Given the description of an element on the screen output the (x, y) to click on. 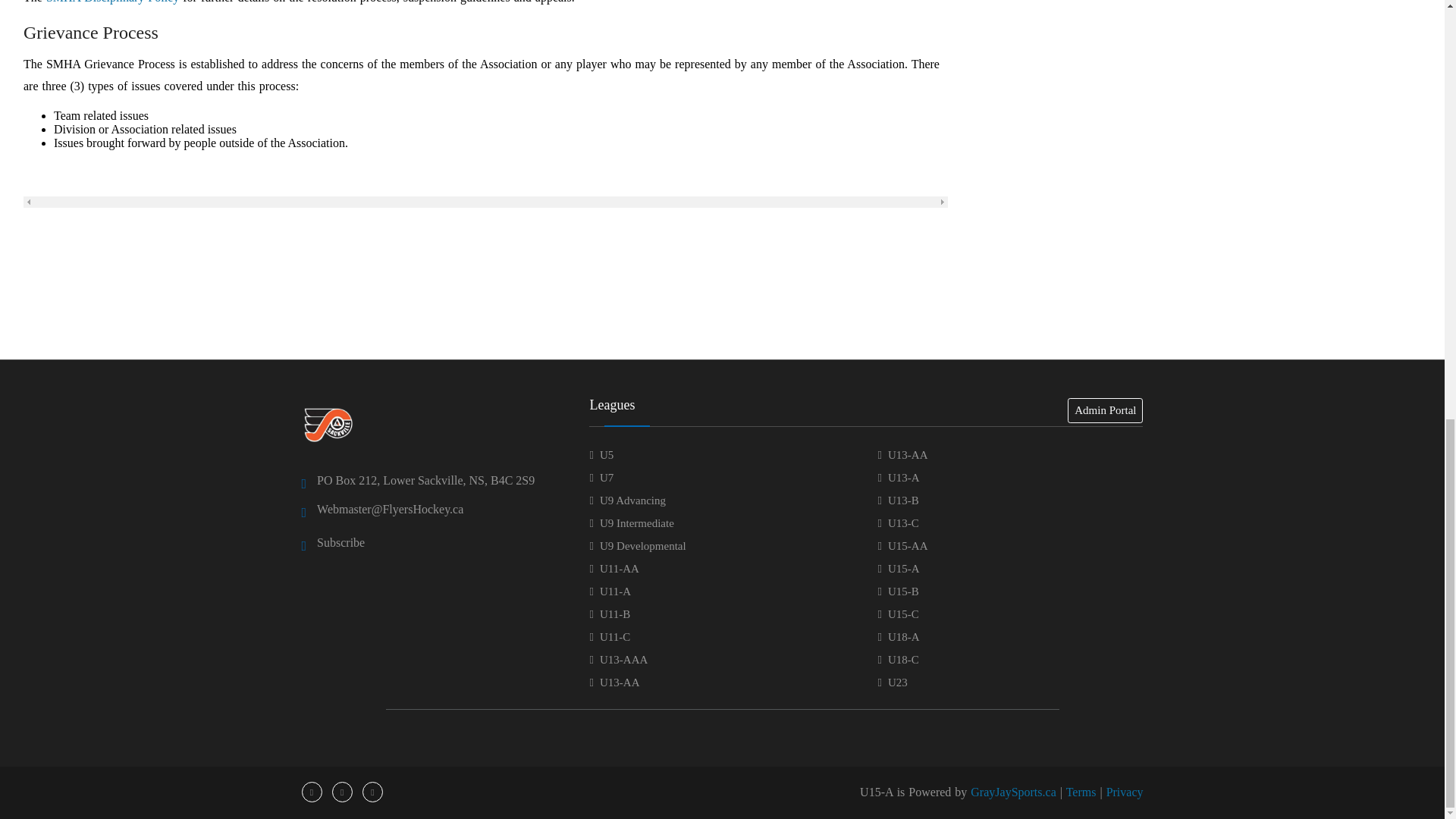
Twitter (342, 791)
Facebook (310, 791)
Instagram (371, 791)
